Given the description of an element on the screen output the (x, y) to click on. 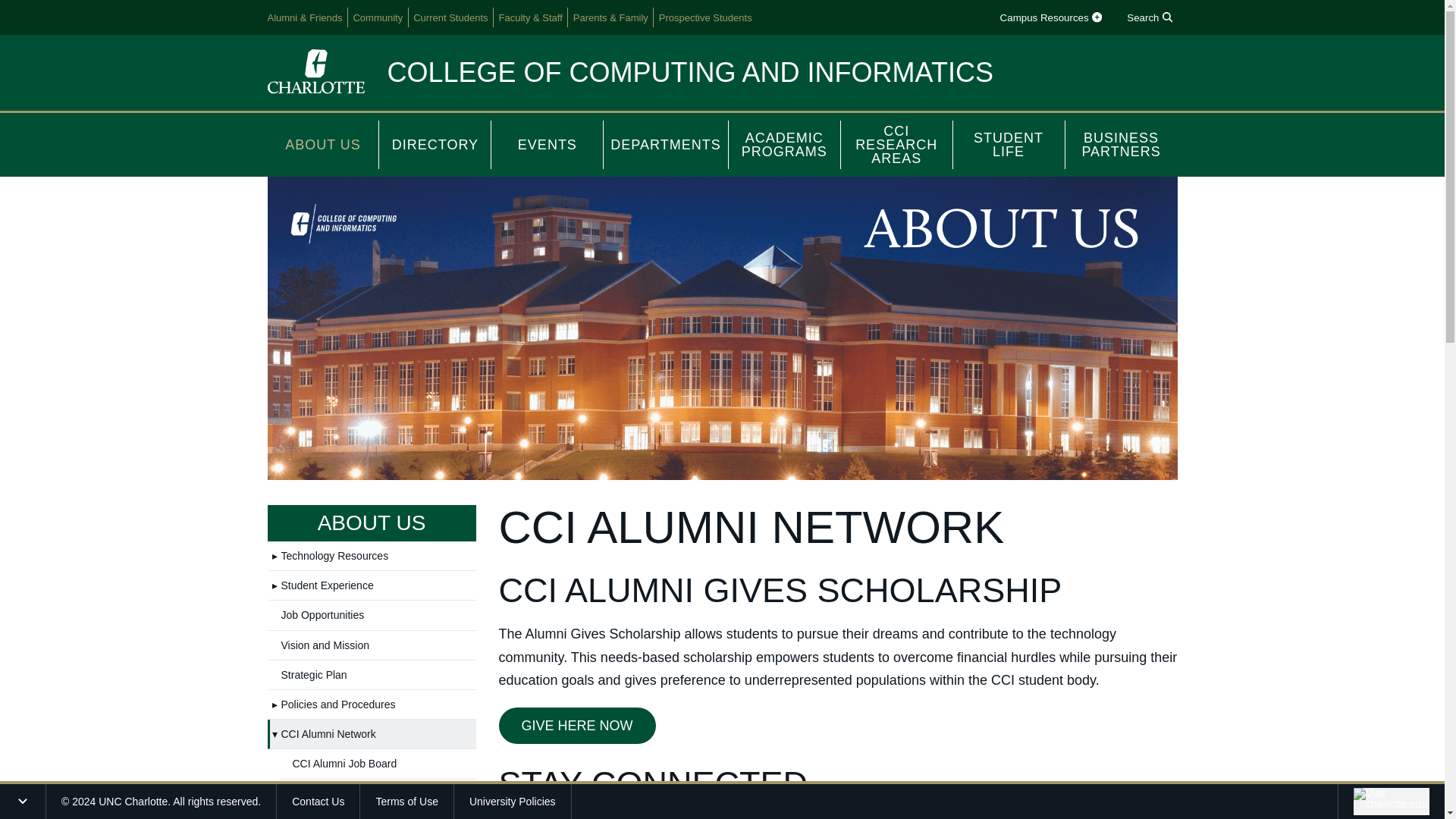
Community (378, 17)
Search (1149, 16)
Prospective Students (705, 17)
Current Students (451, 17)
COLLEGE OF COMPUTING AND INFORMATICS (689, 71)
Campus Resources (1050, 16)
ABOUT US (322, 144)
